Given the description of an element on the screen output the (x, y) to click on. 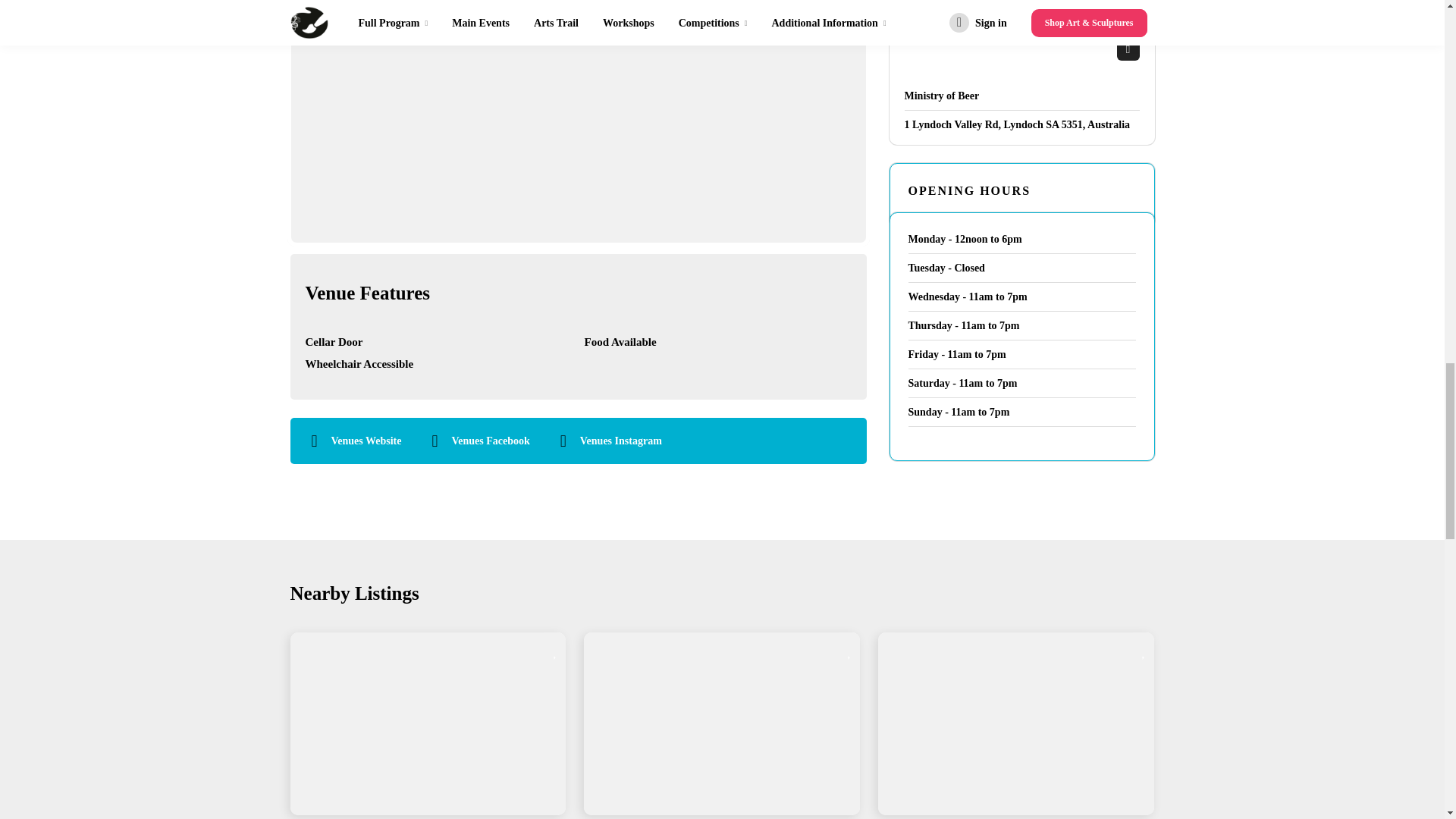
Venues Instagram (620, 440)
Venues Facebook (490, 440)
Venues Website (365, 440)
